Given the description of an element on the screen output the (x, y) to click on. 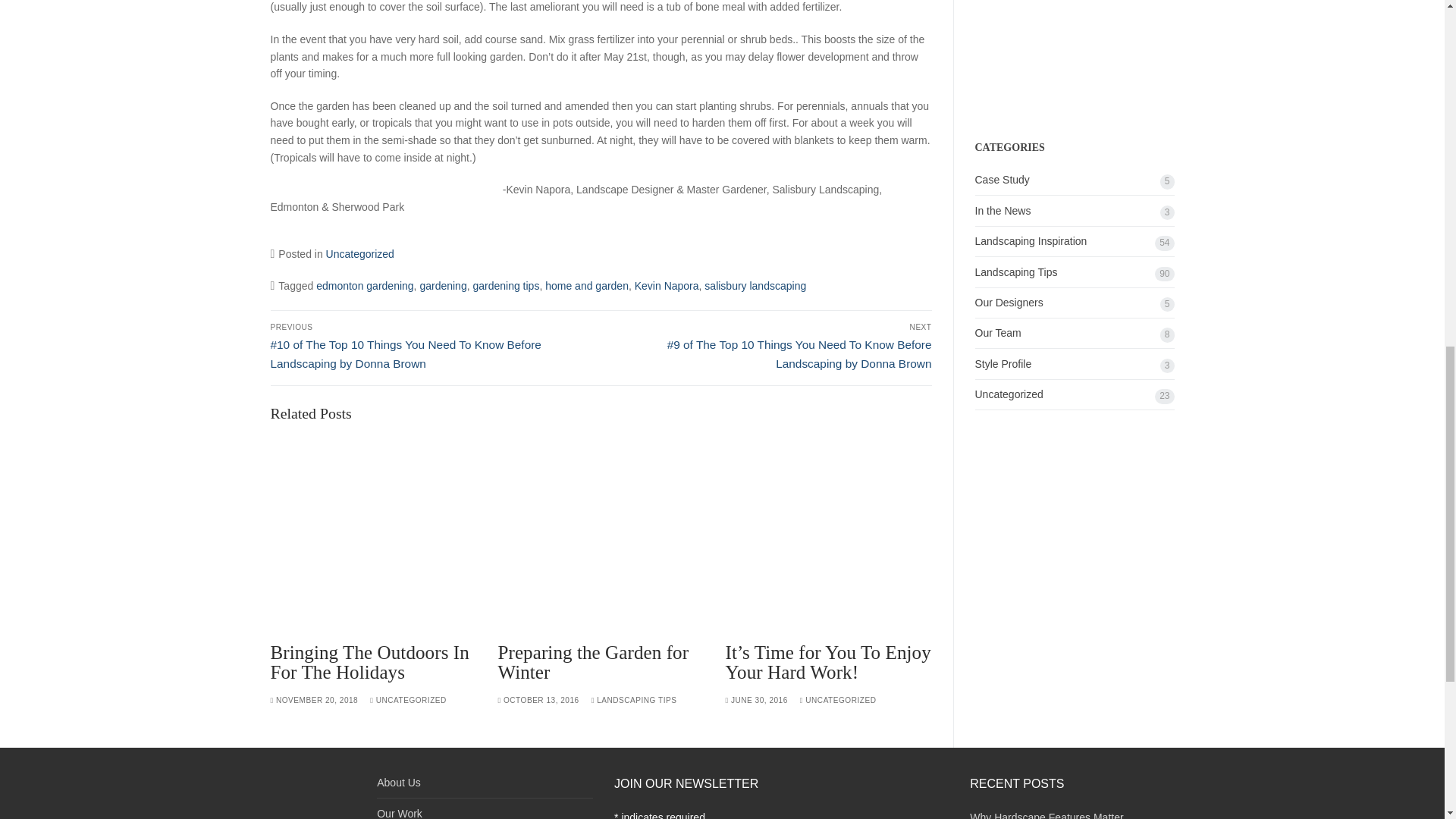
Preparing the Garden for Winter (600, 534)
Bringing The Outdoors In For The Holidays (368, 662)
Bringing The Outdoors In For The Holidays (372, 534)
Preparing the Garden for Winter (592, 662)
